Given the description of an element on the screen output the (x, y) to click on. 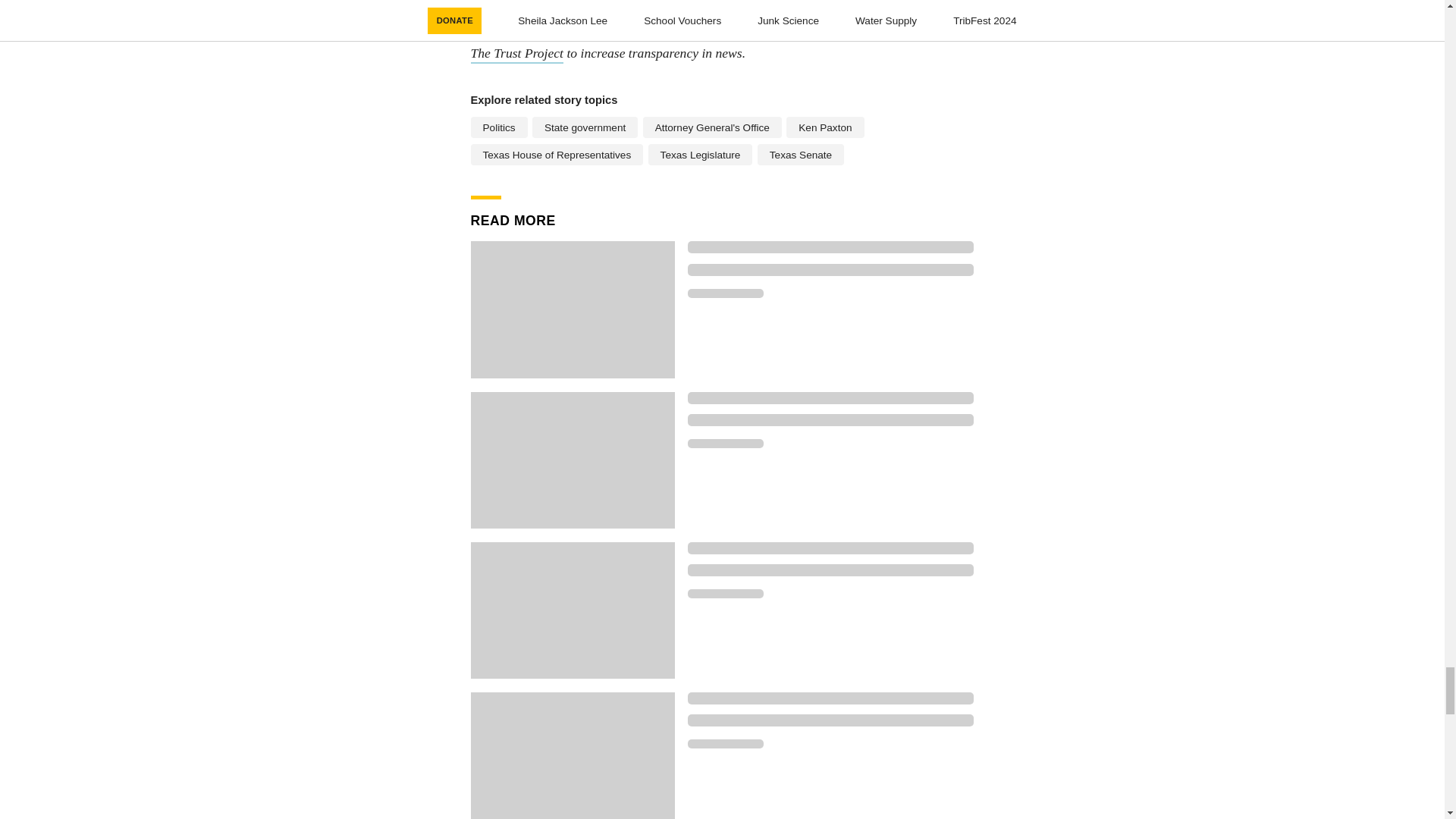
Loading indicator (830, 397)
Loading indicator (830, 246)
Loading indicator (830, 548)
Loading indicator (830, 698)
Loading indicator (830, 419)
Loading indicator (724, 743)
Loading indicator (724, 293)
Loading indicator (830, 720)
Loading indicator (830, 269)
Loading indicator (724, 593)
Loading indicator (724, 442)
Loading indicator (830, 570)
